Given the description of an element on the screen output the (x, y) to click on. 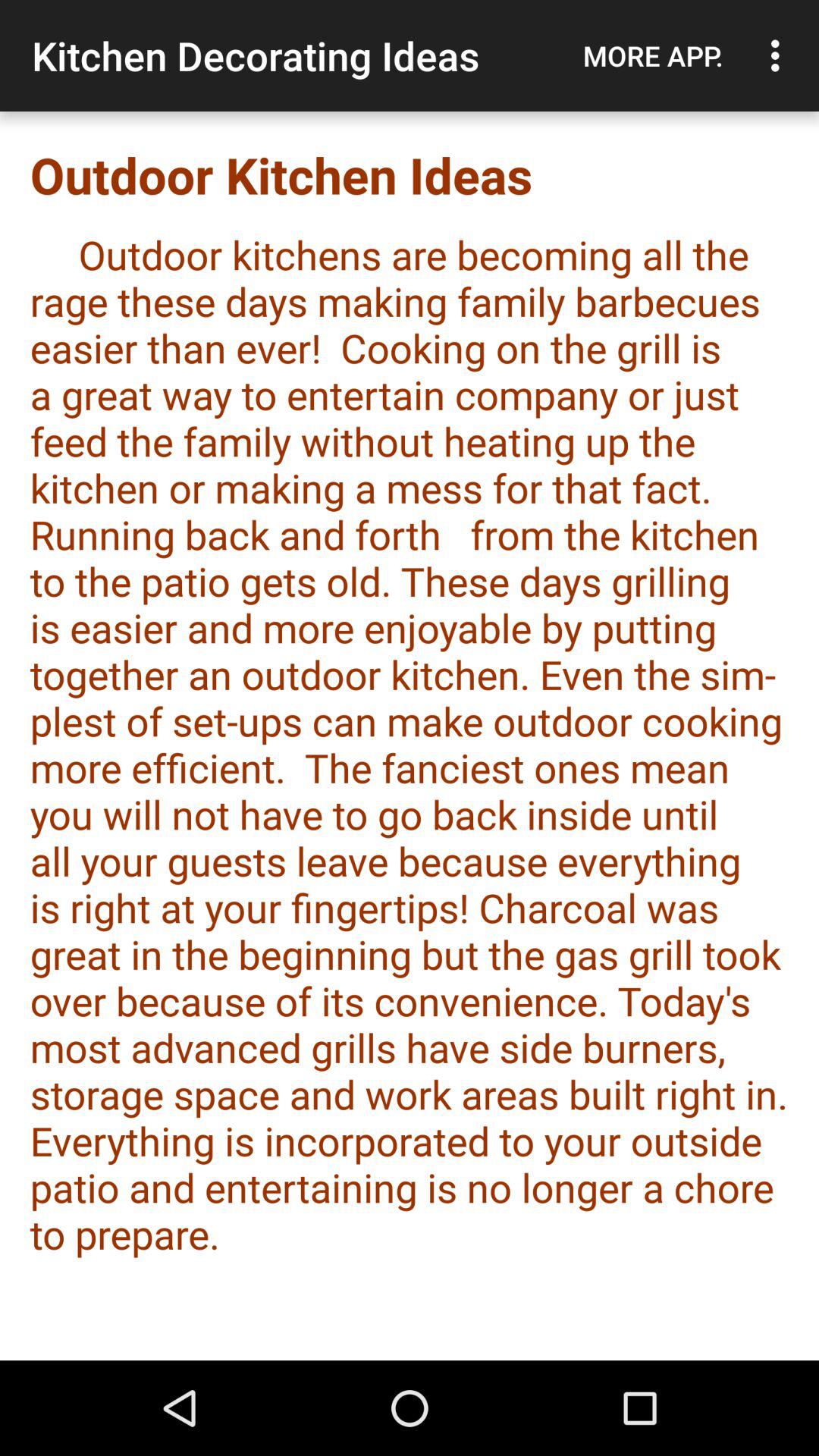
turn on the app above the outdoor kitchen ideas (779, 55)
